Given the description of an element on the screen output the (x, y) to click on. 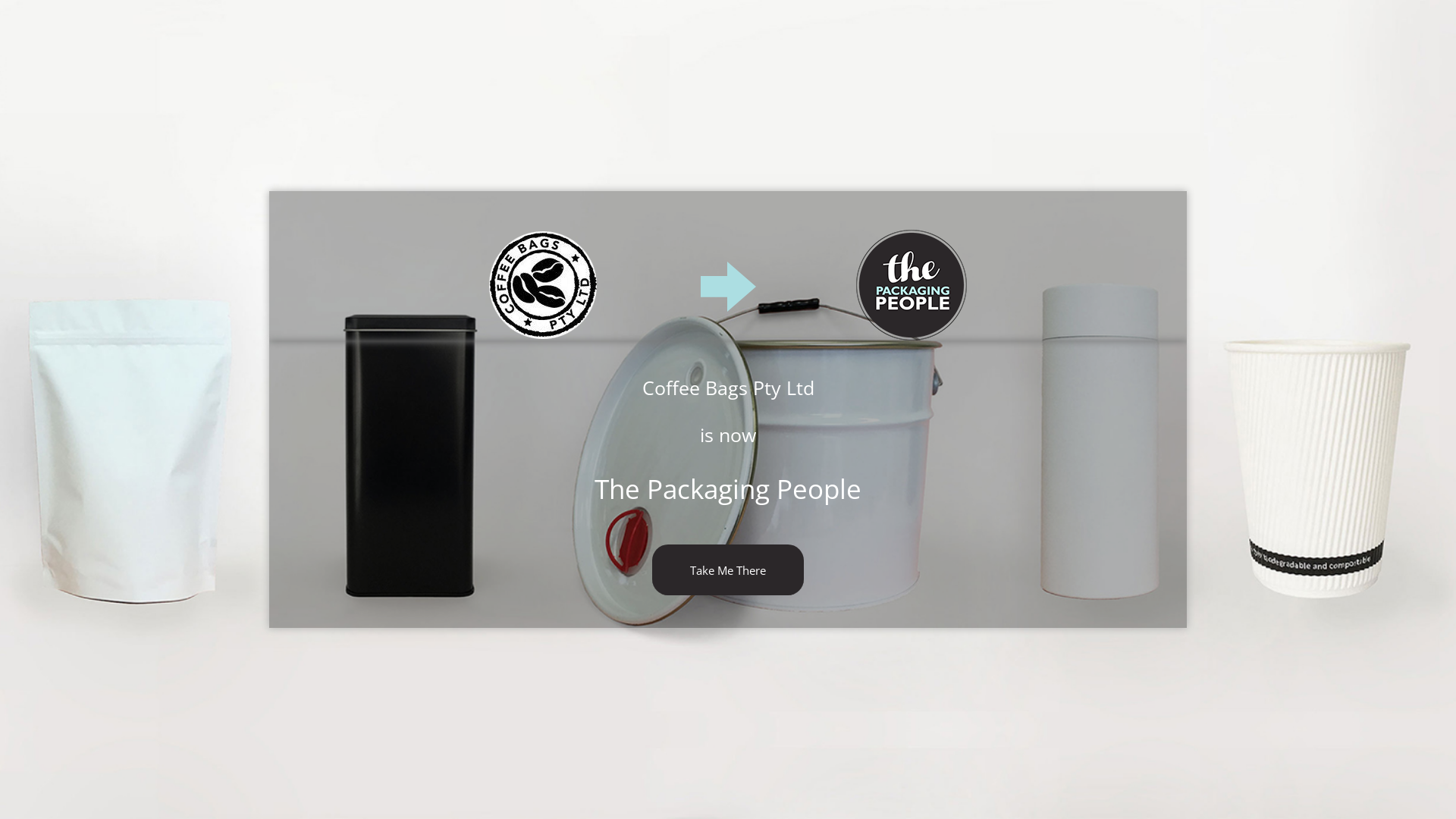
Logo-coffeebags-200px Element type: hover (544, 285)
coffeebagstpplogo Element type: hover (911, 285)
Take Me There Element type: text (727, 569)
